Given the description of an element on the screen output the (x, y) to click on. 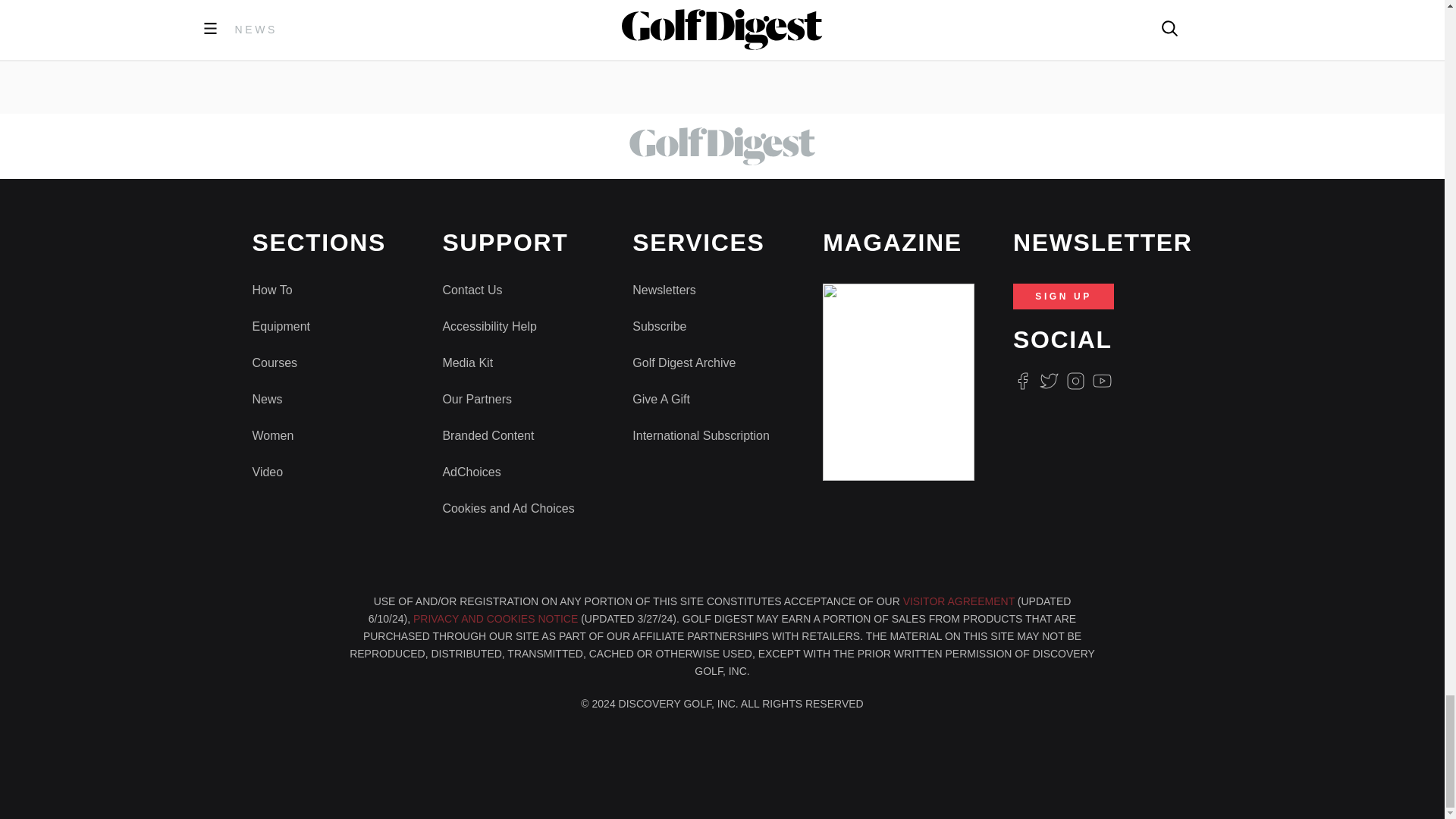
Youtube Icon (1102, 380)
Facebook Logo (1022, 380)
Twitter Logo (1048, 380)
Instagram Logo (1074, 380)
